Given the description of an element on the screen output the (x, y) to click on. 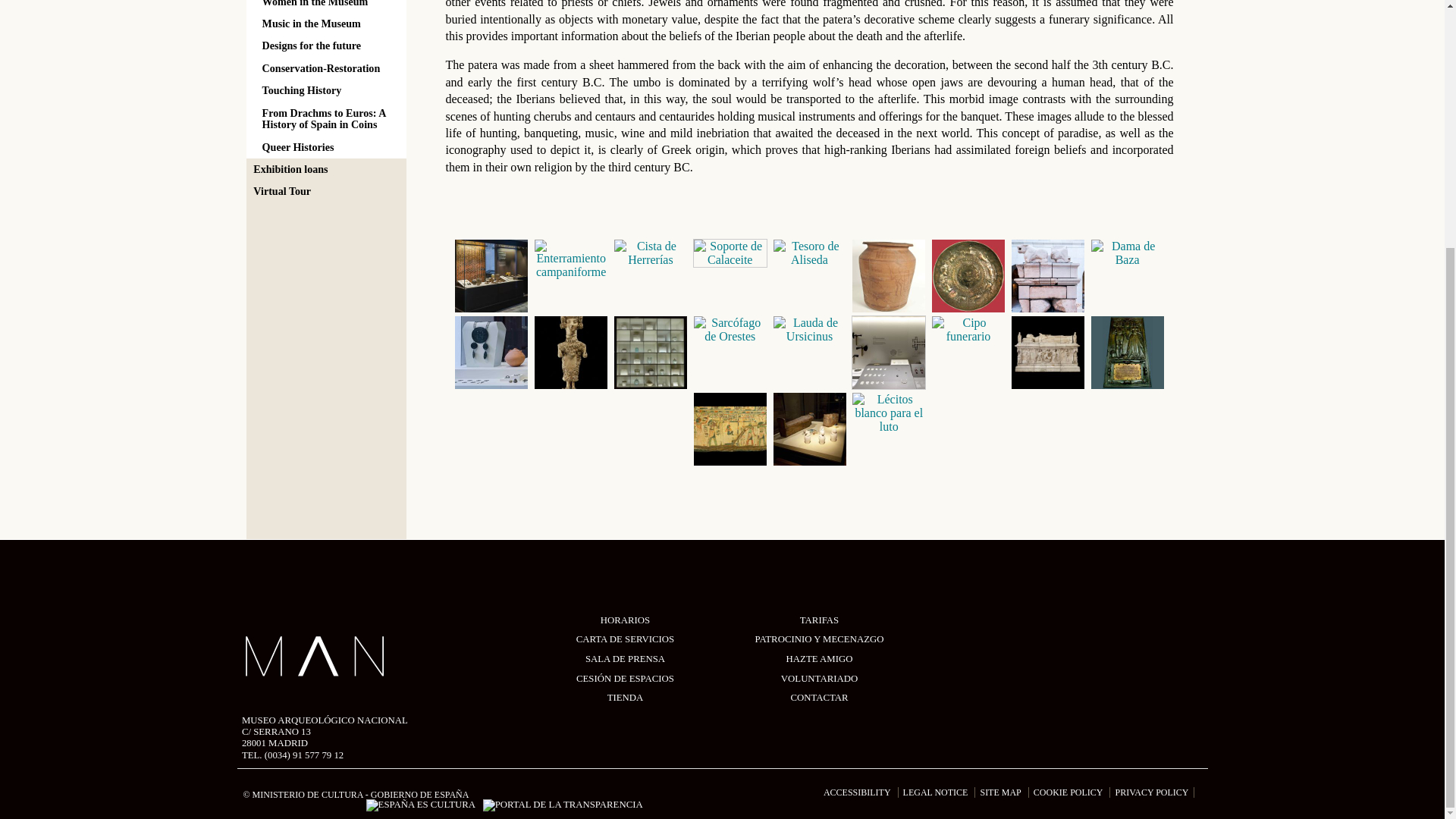
2 (571, 259)
1 (491, 275)
3 (649, 253)
